Given the description of an element on the screen output the (x, y) to click on. 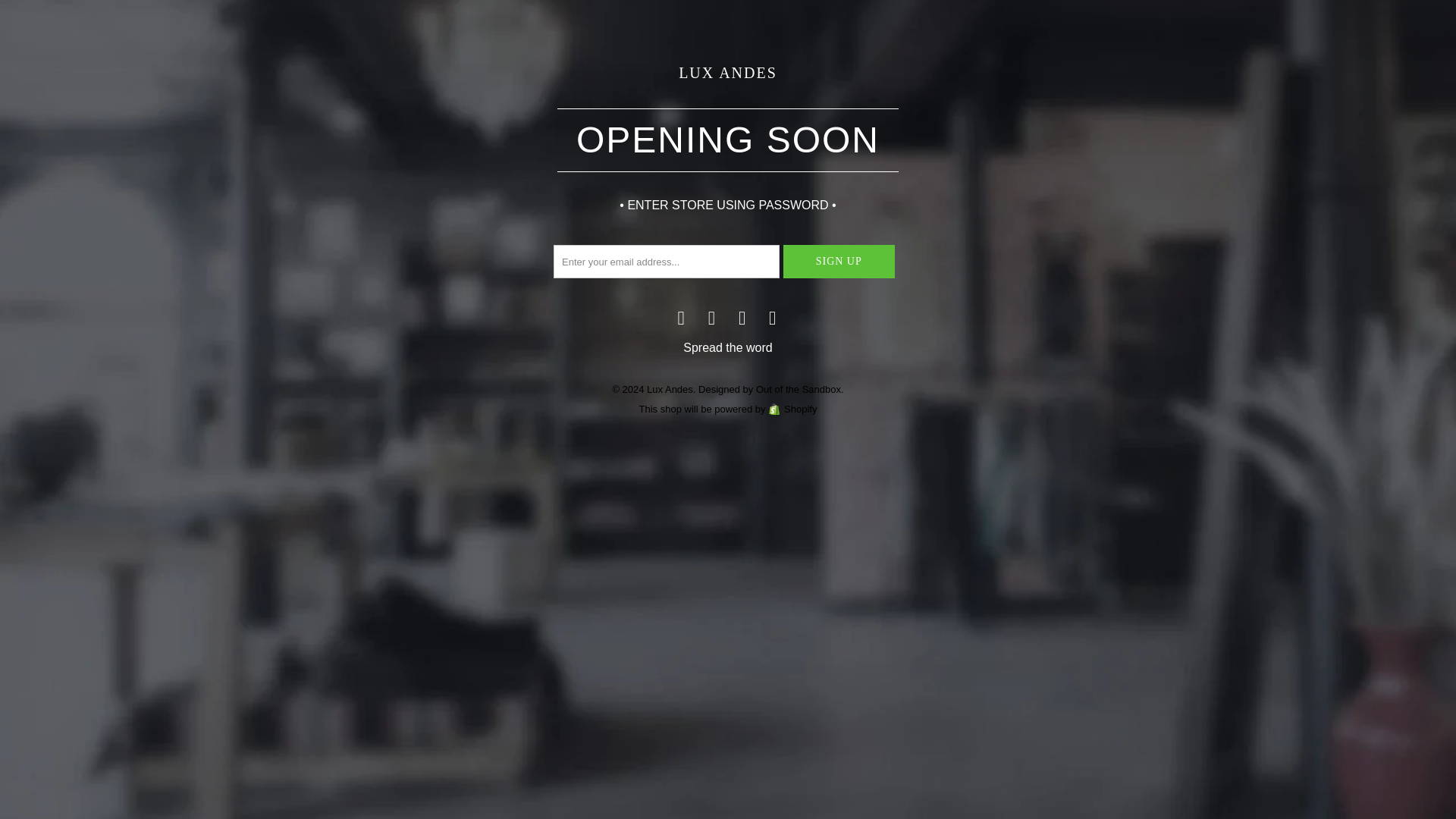
Sign Up (839, 261)
Lux Andes on Pinterest (742, 317)
Lux Andes on Facebook (681, 317)
Sign Up (839, 261)
Designed by Out of the Sandbox (769, 389)
Lux Andes on Instagram (773, 317)
Turbo Shopify Theme by Out of the Sandbox (769, 389)
Lux Andes on YouTube (711, 317)
